Given the description of an element on the screen output the (x, y) to click on. 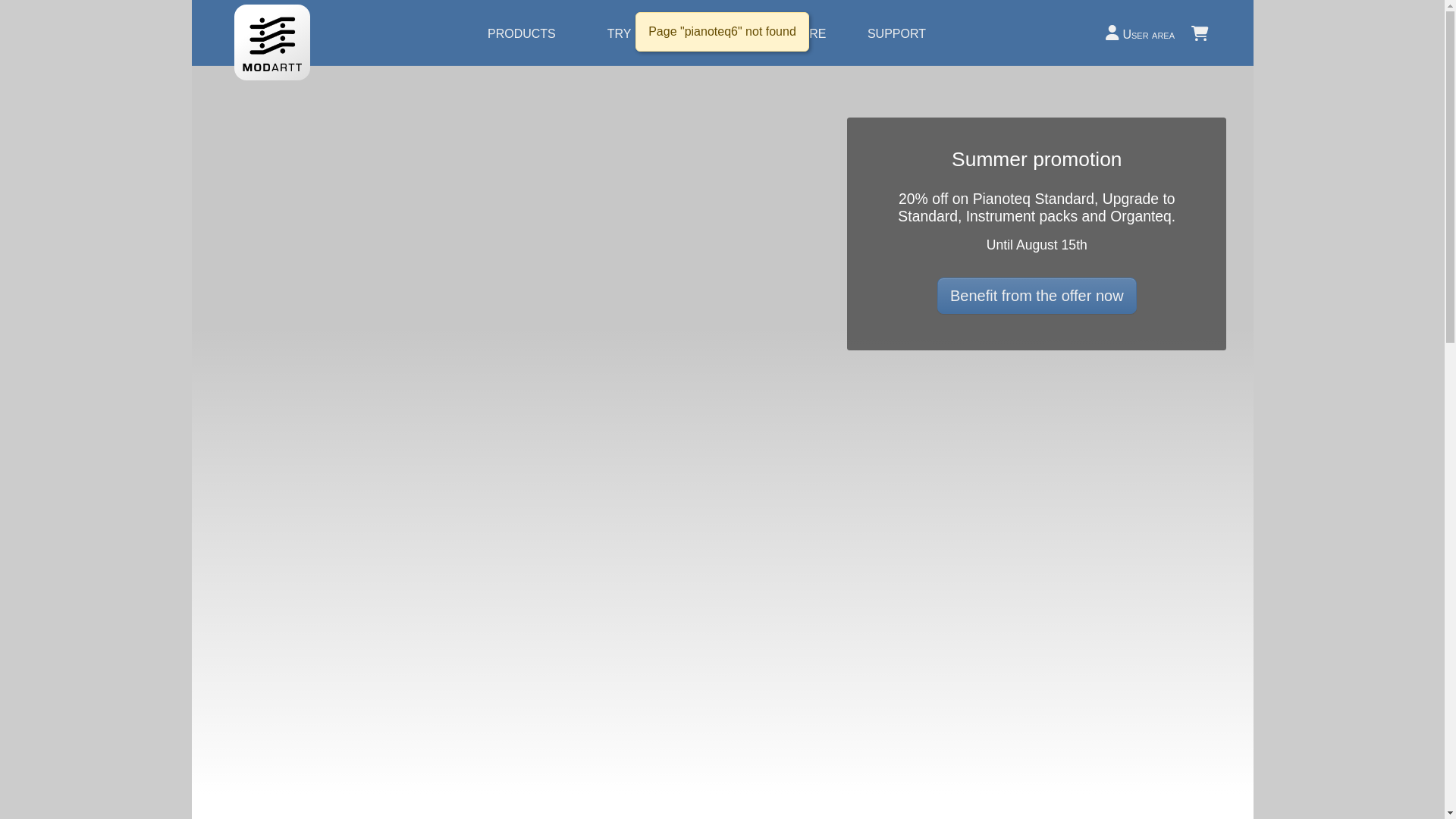
PRODUCTS (521, 34)
TRY (619, 34)
Benefit from the offer now (1037, 295)
User area (1139, 33)
User area (1139, 33)
BUY (705, 34)
SUPPORT (896, 34)
EXPLORE (797, 34)
